Given the description of an element on the screen output the (x, y) to click on. 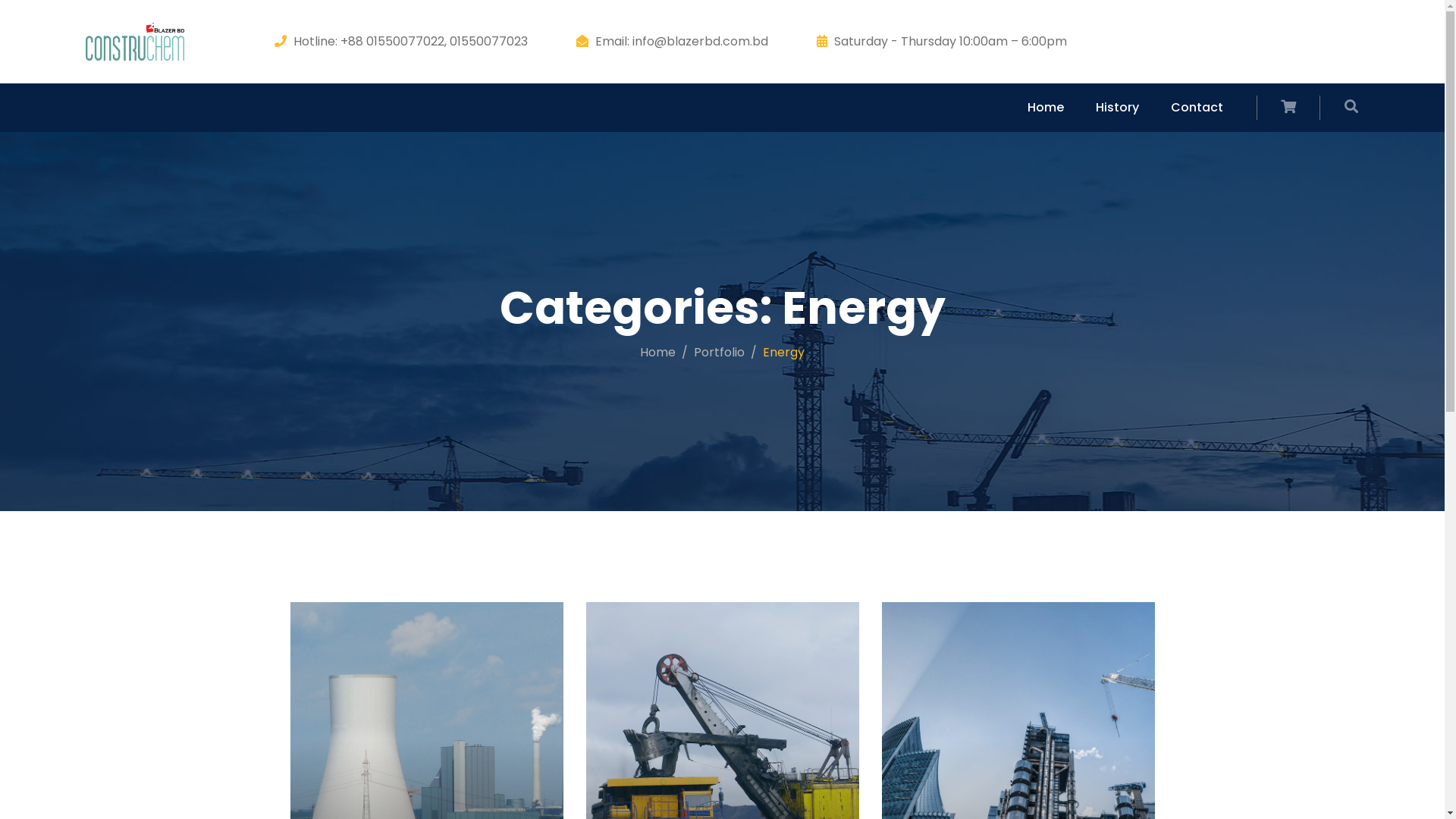
Home Element type: text (1049, 107)
Contact Element type: text (1192, 107)
Portfolio Element type: text (718, 351)
History Element type: text (1112, 107)
Home Element type: text (657, 351)
